Given the description of an element on the screen output the (x, y) to click on. 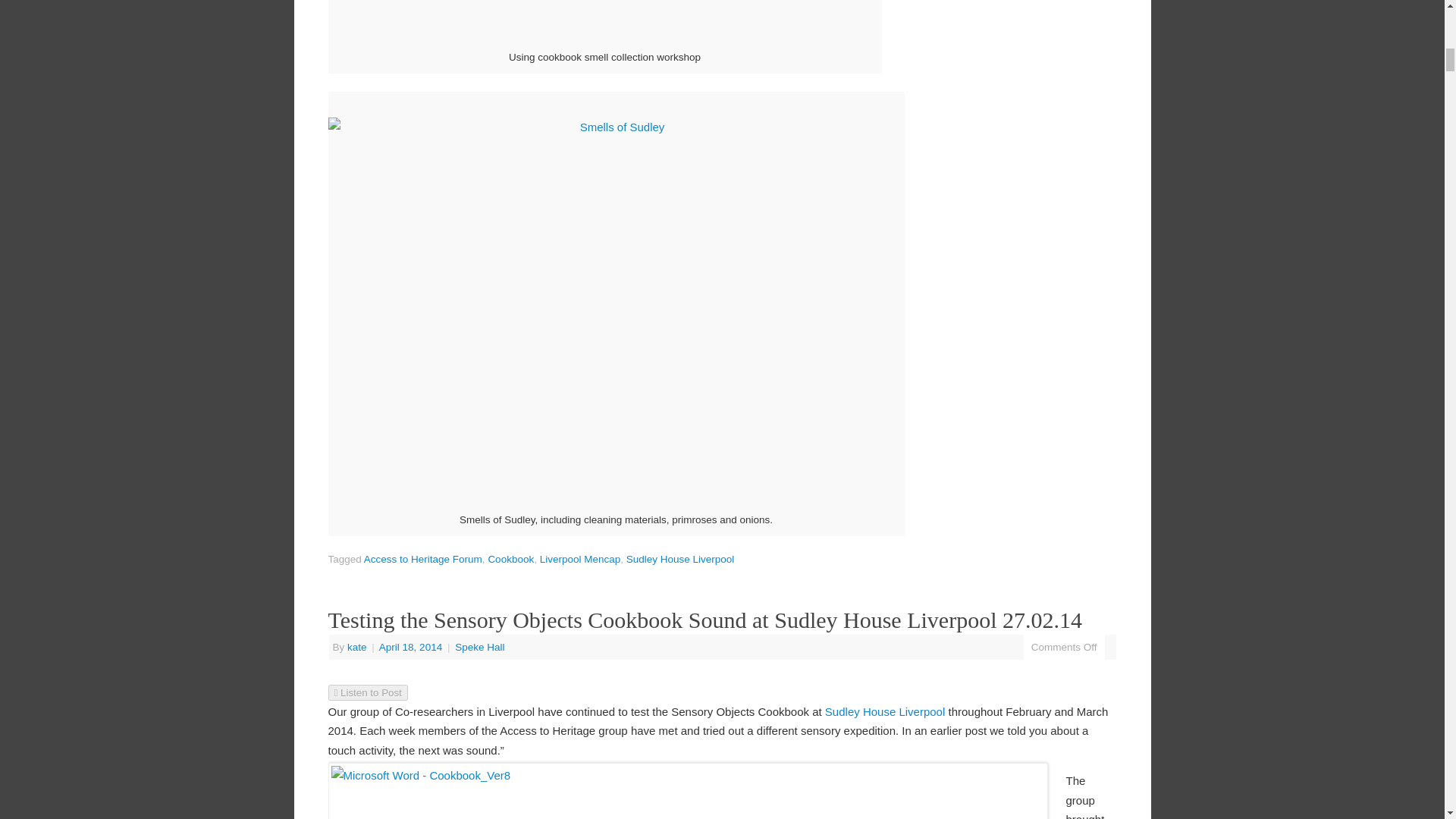
Liverpool Mencap (580, 559)
View all posts by kate (356, 646)
Access to Heritage Forum (422, 559)
Sudley House Liverpool (680, 559)
Speke Hall (478, 646)
Sudley House Liverpool (884, 711)
Cookbook (510, 559)
April 18, 2014 (411, 646)
